Given the description of an element on the screen output the (x, y) to click on. 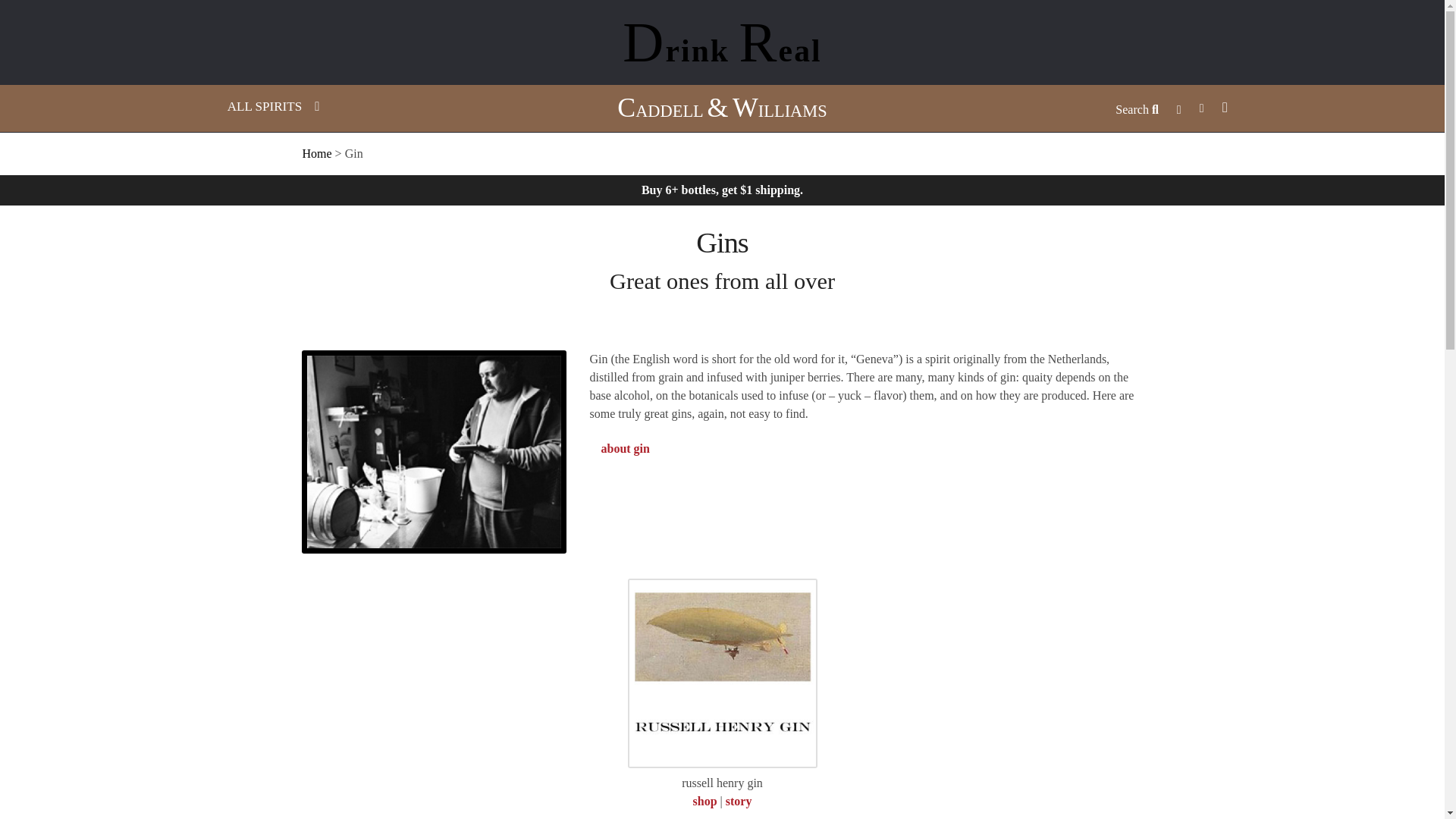
Home (316, 153)
about gin (624, 448)
story (738, 800)
shop (705, 800)
View your shopping cart (1318, 108)
ALL SPIRITS (273, 107)
